Given the description of an element on the screen output the (x, y) to click on. 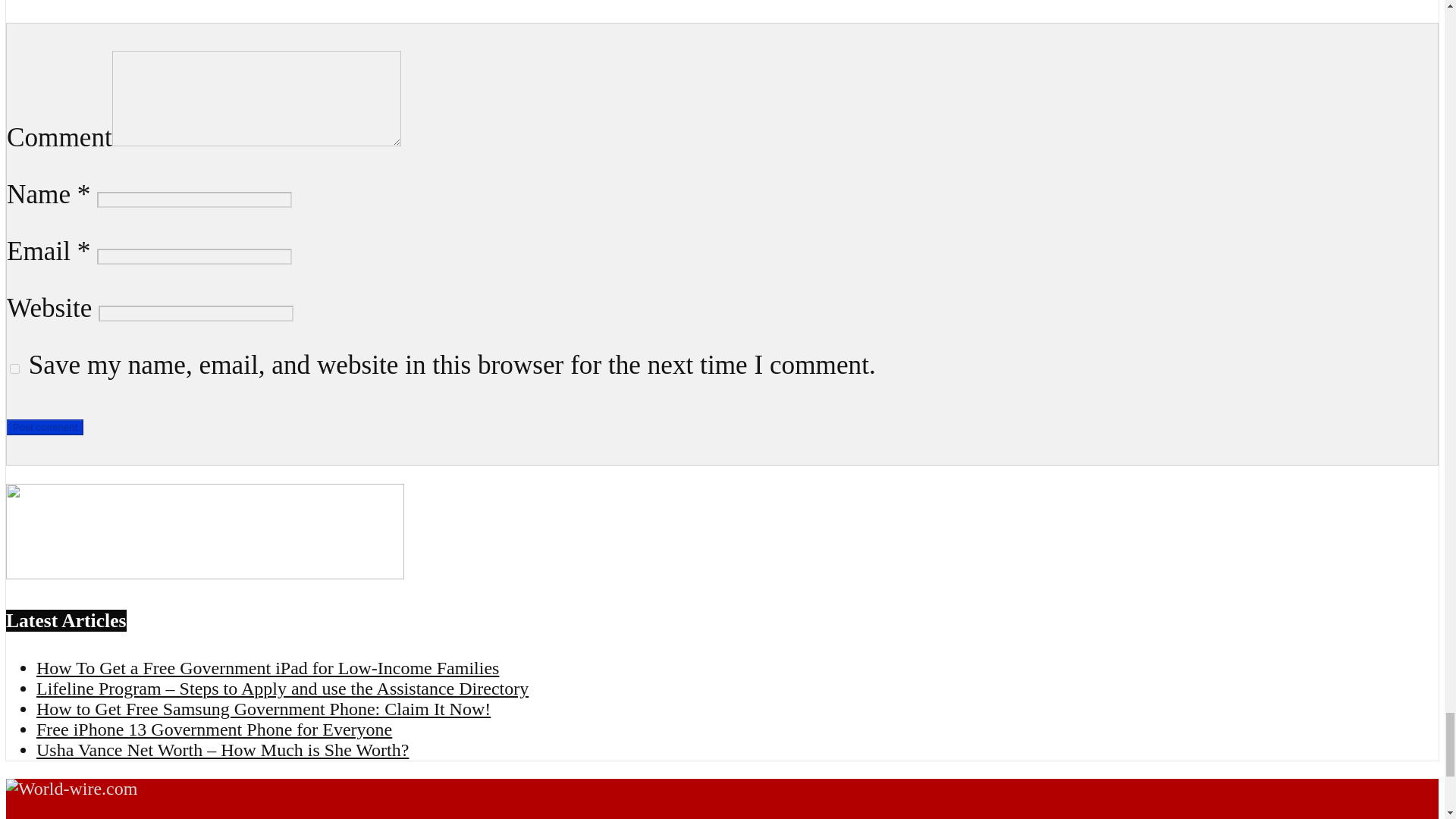
Post comment (44, 426)
yes (15, 368)
